Given the description of an element on the screen output the (x, y) to click on. 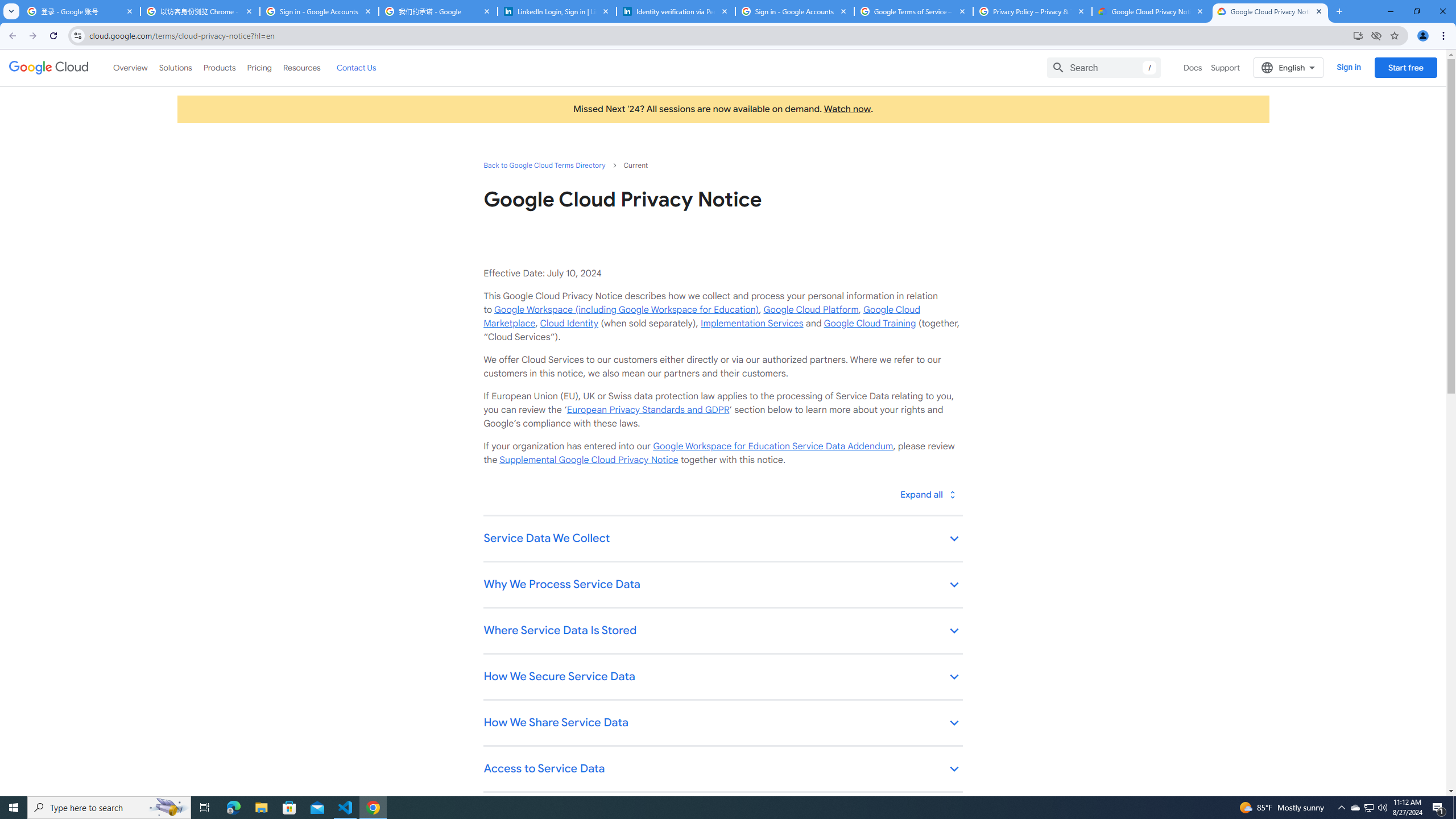
Implementation Services (751, 323)
Google Cloud Training (869, 323)
How We Share Service Data keyboard_arrow_down (722, 723)
Toggle all (927, 493)
Contact Us (355, 67)
Solutions (175, 67)
English (1288, 67)
Google Cloud Privacy Notice (1270, 11)
Cloud Identity (569, 323)
Pricing (259, 67)
